Given the description of an element on the screen output the (x, y) to click on. 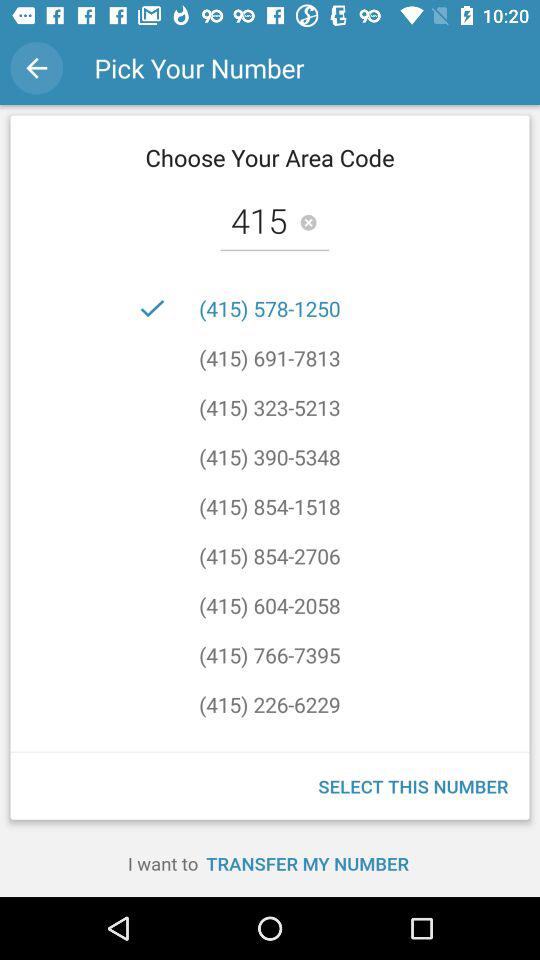
select the icon next to the pick your number item (36, 68)
